Given the description of an element on the screen output the (x, y) to click on. 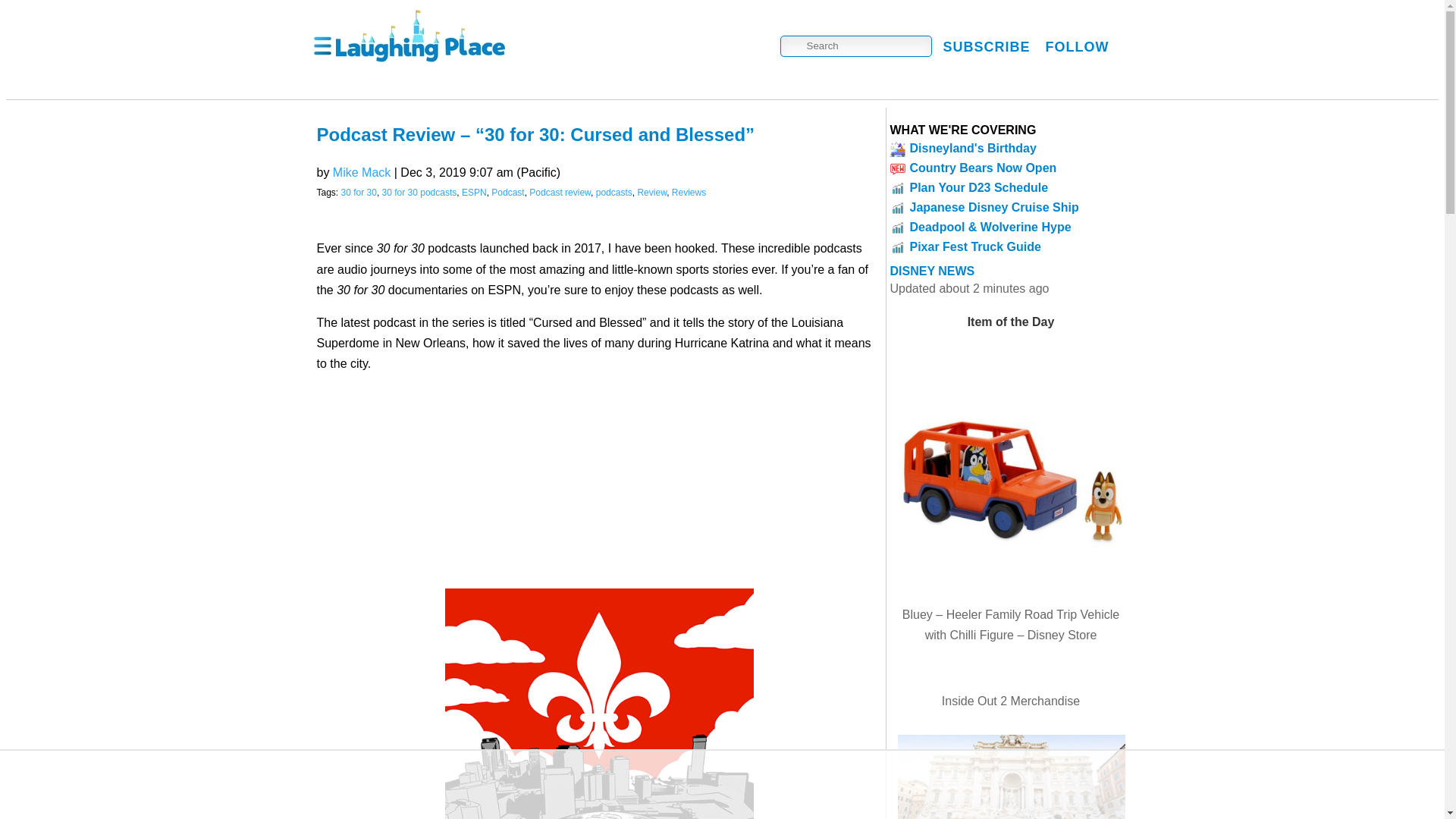
Posts by Mike Mack (361, 172)
Dec 3, 2019 (480, 172)
Submit (75, 10)
FOLLOW (1077, 46)
SUBSCRIBE (987, 46)
